Given the description of an element on the screen output the (x, y) to click on. 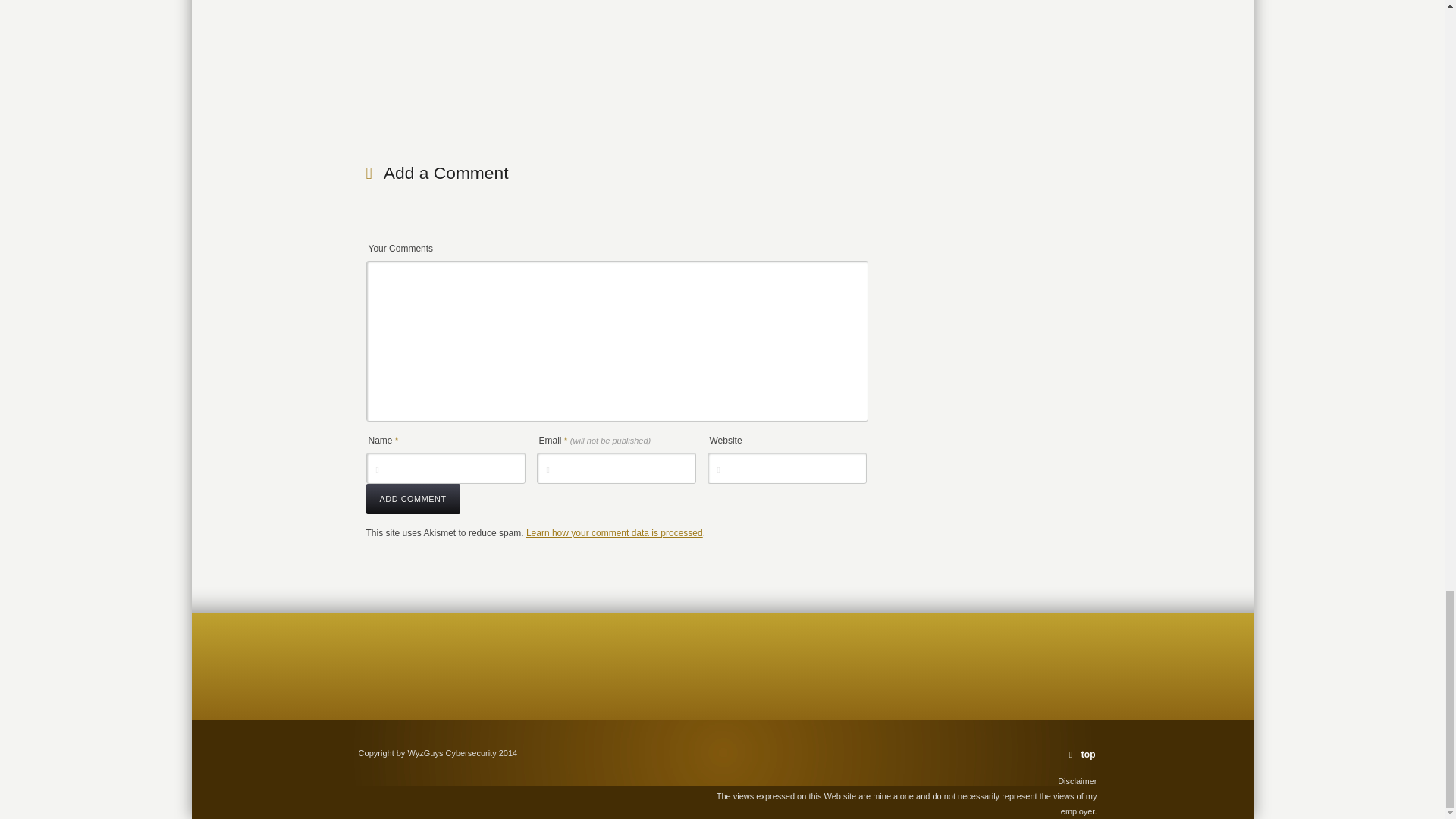
Add Comment (412, 499)
